Given the description of an element on the screen output the (x, y) to click on. 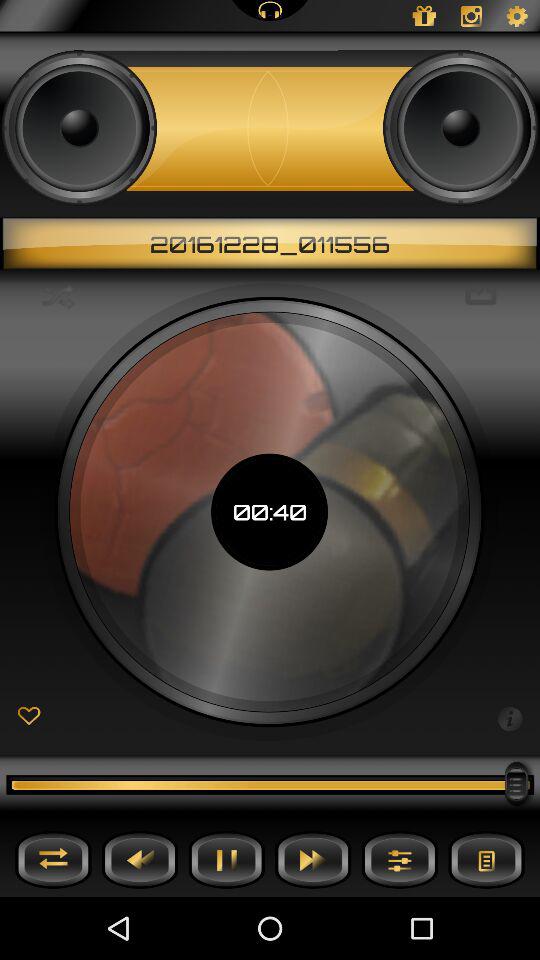
go back (140, 859)
